Given the description of an element on the screen output the (x, y) to click on. 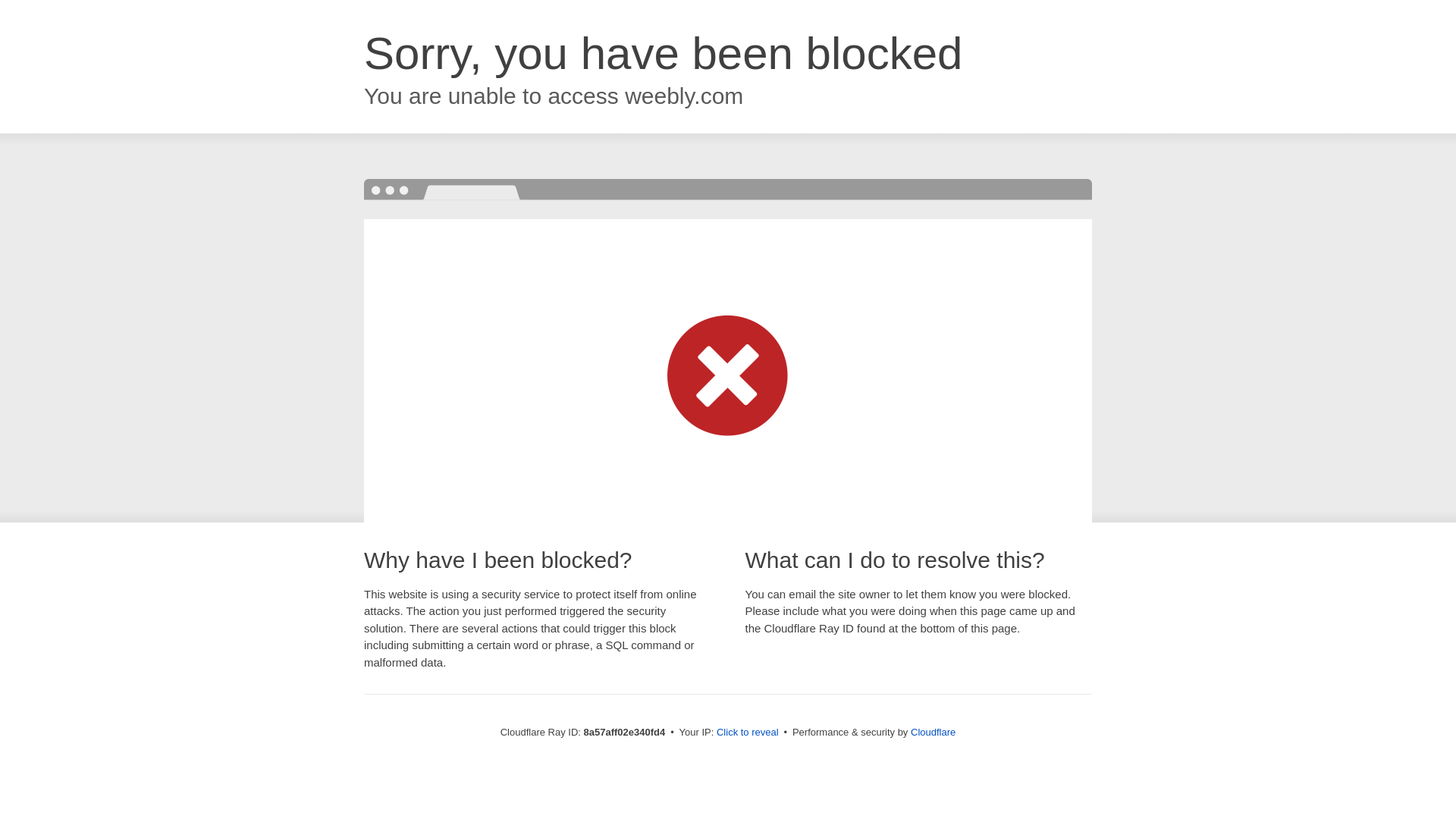
Cloudflare (933, 731)
Click to reveal (747, 732)
